Given the description of an element on the screen output the (x, y) to click on. 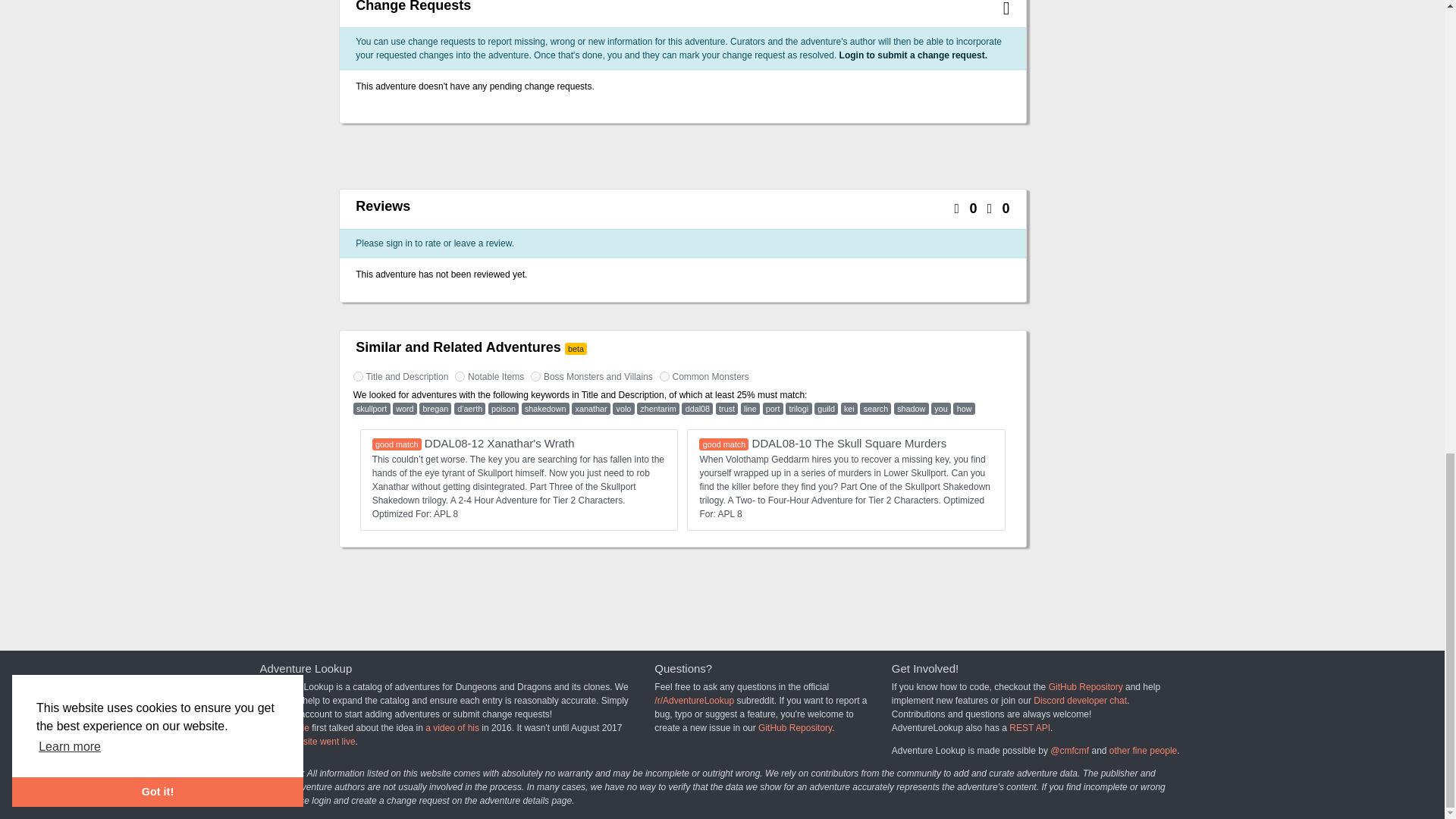
on (535, 376)
on (664, 376)
on (357, 376)
on (459, 376)
